Given the description of an element on the screen output the (x, y) to click on. 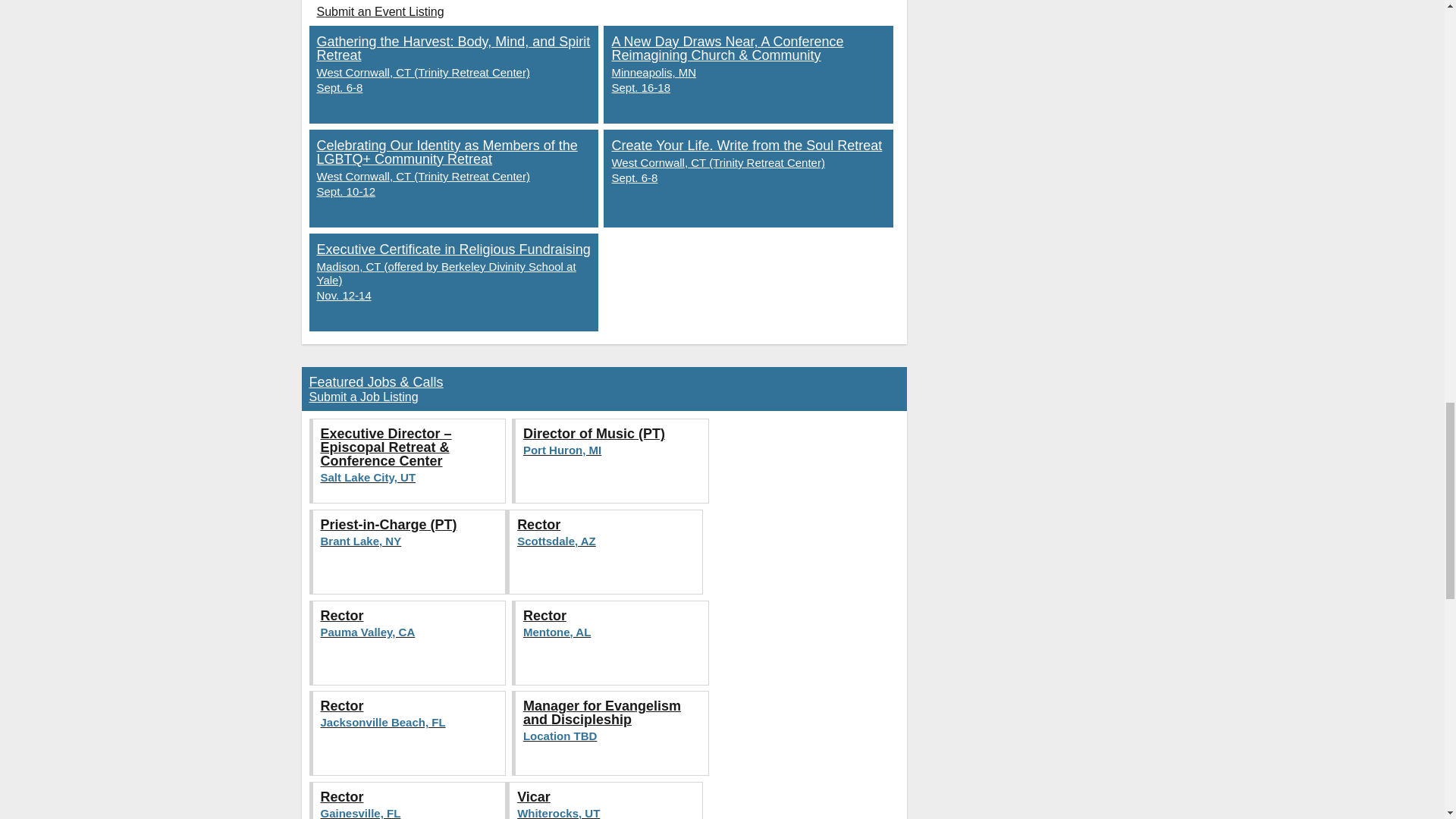
Gathering the Harvest: Body, Mind, and Spirit Retreat (605, 551)
Executive Certificate in Religious Fundraising (409, 642)
Featured Events (453, 74)
Submit a Job Listing (453, 282)
Submit an Event Listing (363, 396)
